Given the description of an element on the screen output the (x, y) to click on. 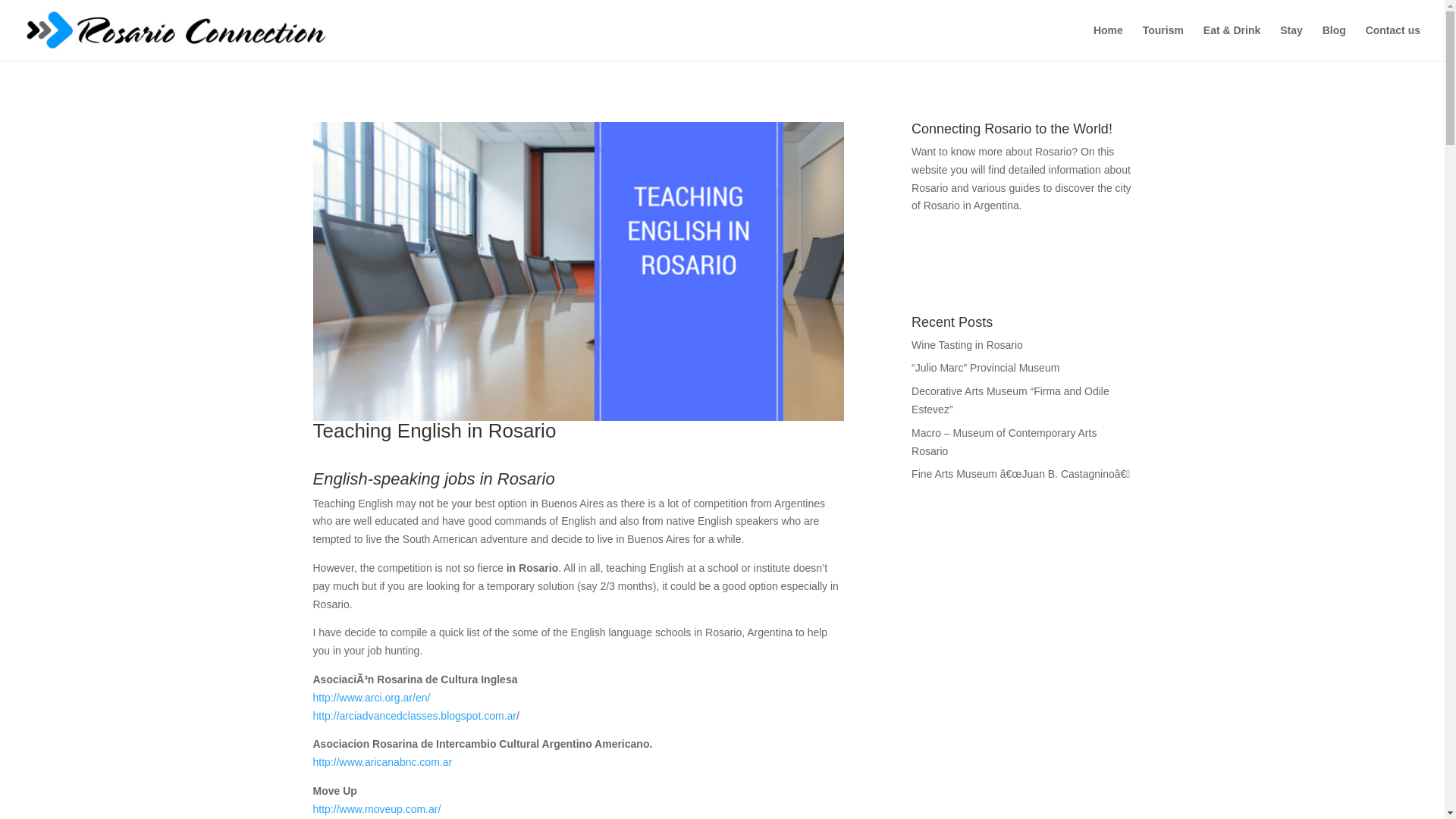
Tourism (1162, 42)
Contact us (1393, 42)
Wine Tasting in Rosario (967, 345)
